Given the description of an element on the screen output the (x, y) to click on. 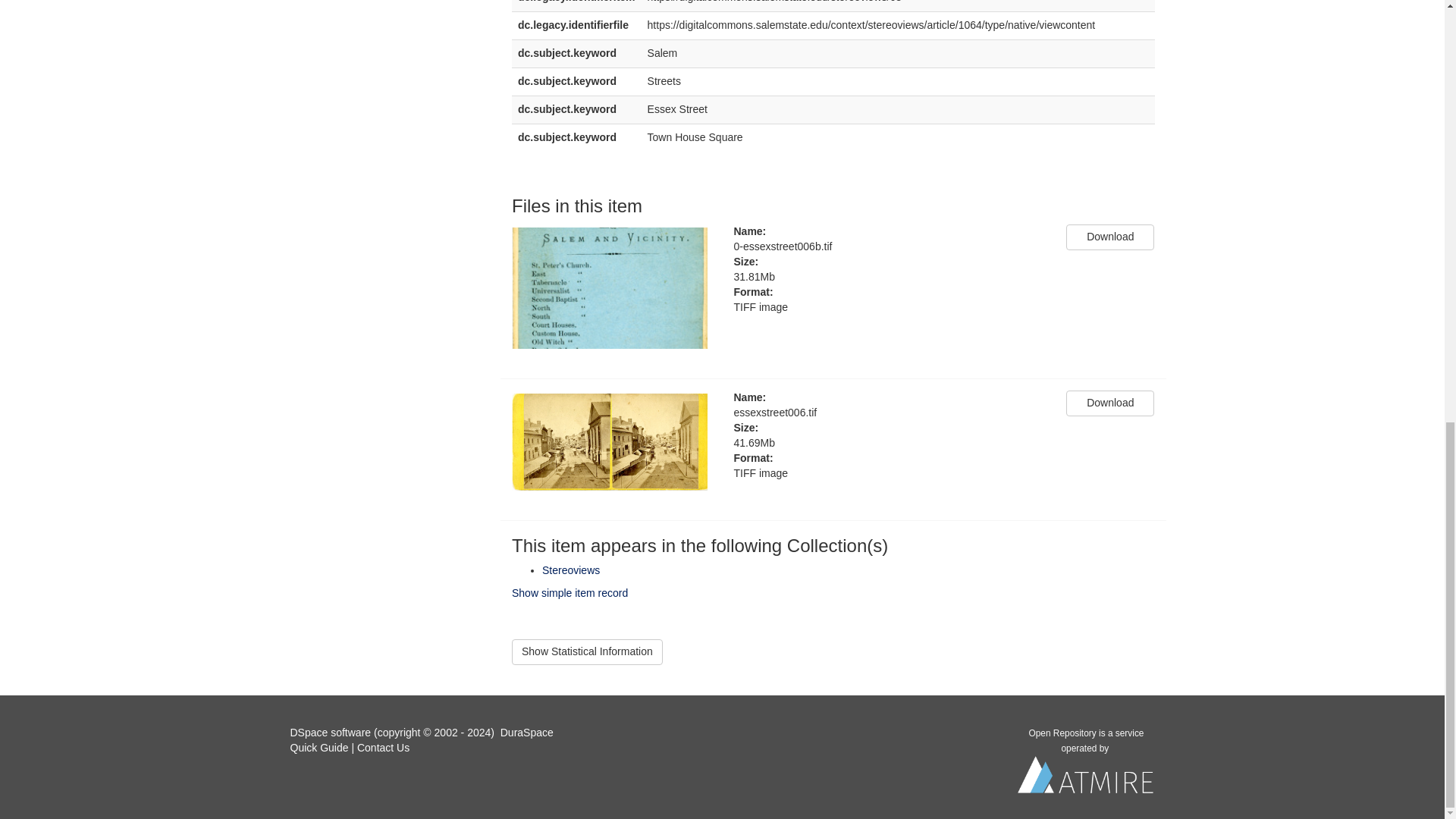
essexstreet006.tif (888, 412)
Atmire NV (1085, 778)
0-essexstreet006b.tif (888, 246)
